Given the description of an element on the screen output the (x, y) to click on. 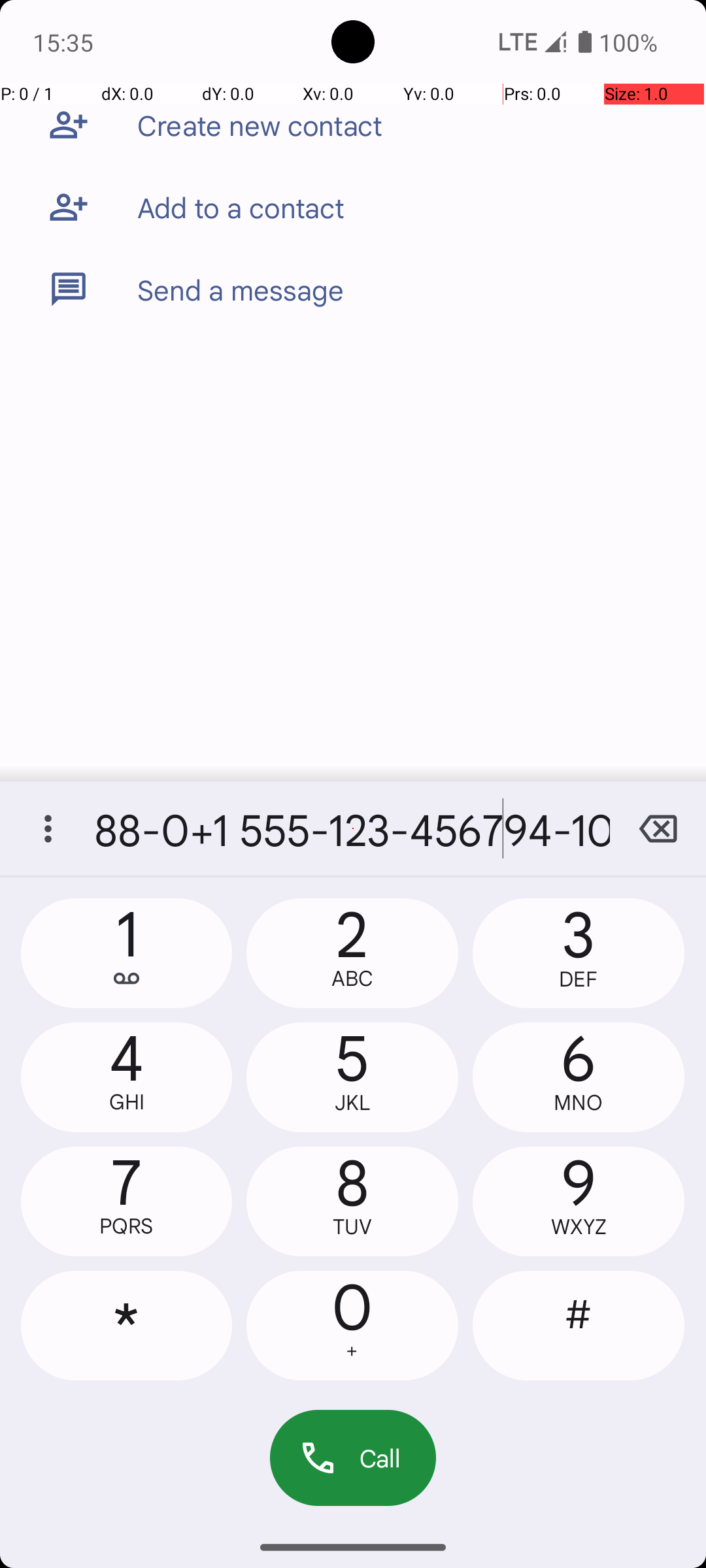
+1 688-0+1 555-123-456794-10595 Element type: android.widget.EditText (352, 828)
